Given the description of an element on the screen output the (x, y) to click on. 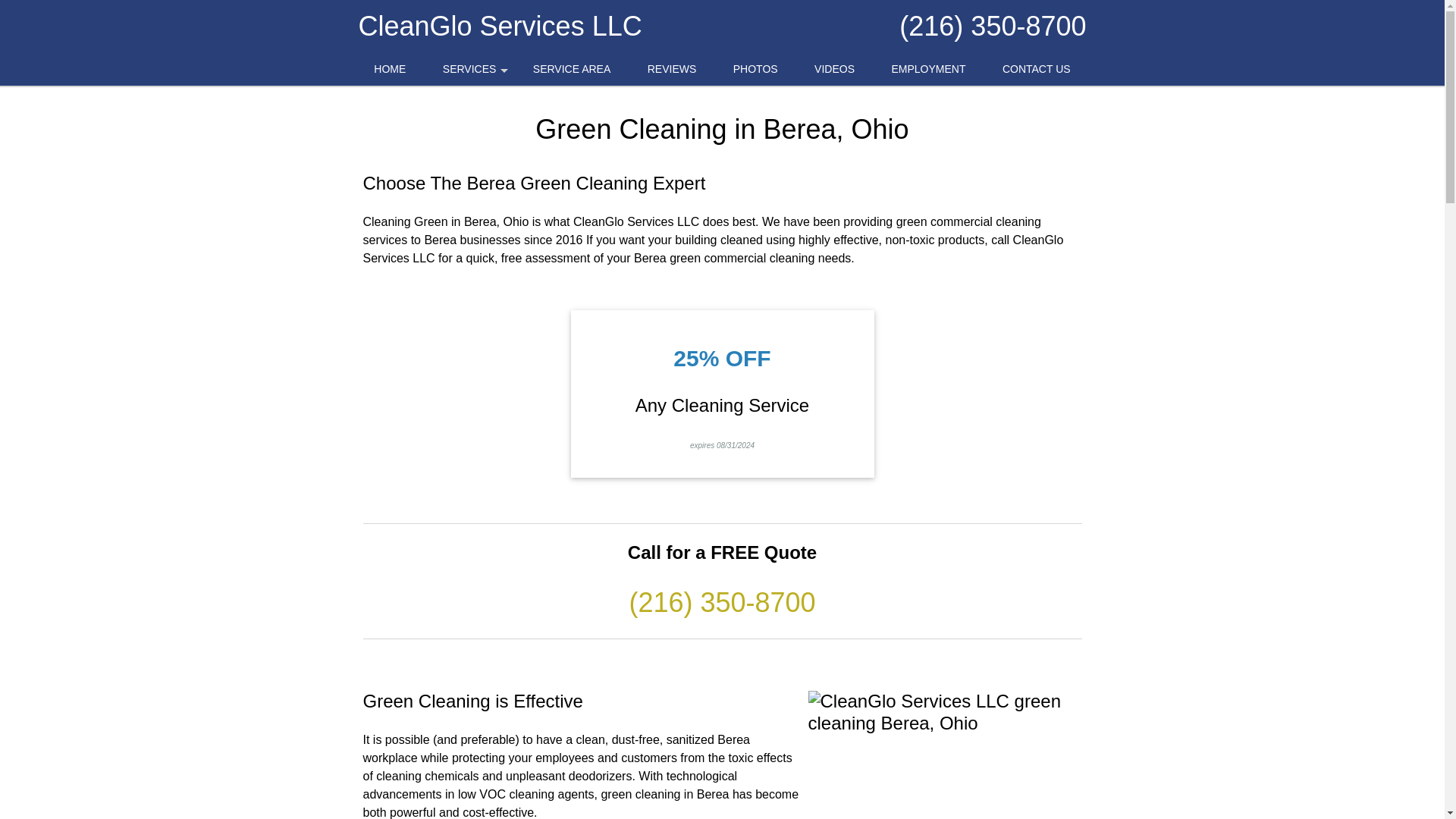
CONTACT US (1036, 69)
SERVICE AREA (571, 69)
PHOTOS (755, 69)
HOME (389, 69)
VIDEOS (833, 69)
EMPLOYMENT (928, 69)
REVIEWS (671, 69)
